Given the description of an element on the screen output the (x, y) to click on. 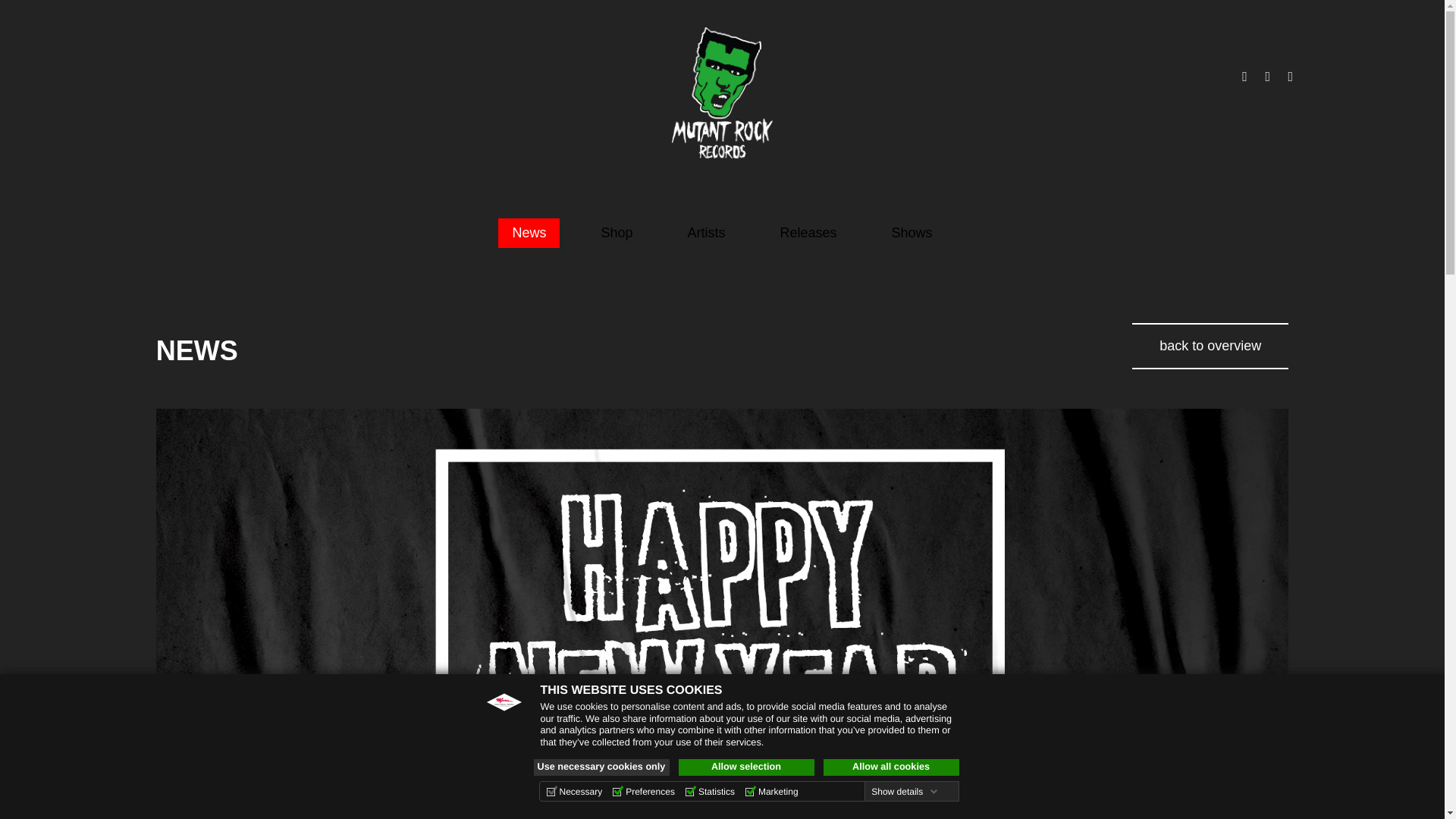
Allow all cookies (891, 767)
Use necessary cookies only (601, 767)
Show details (903, 791)
Allow selection (745, 767)
